Given the description of an element on the screen output the (x, y) to click on. 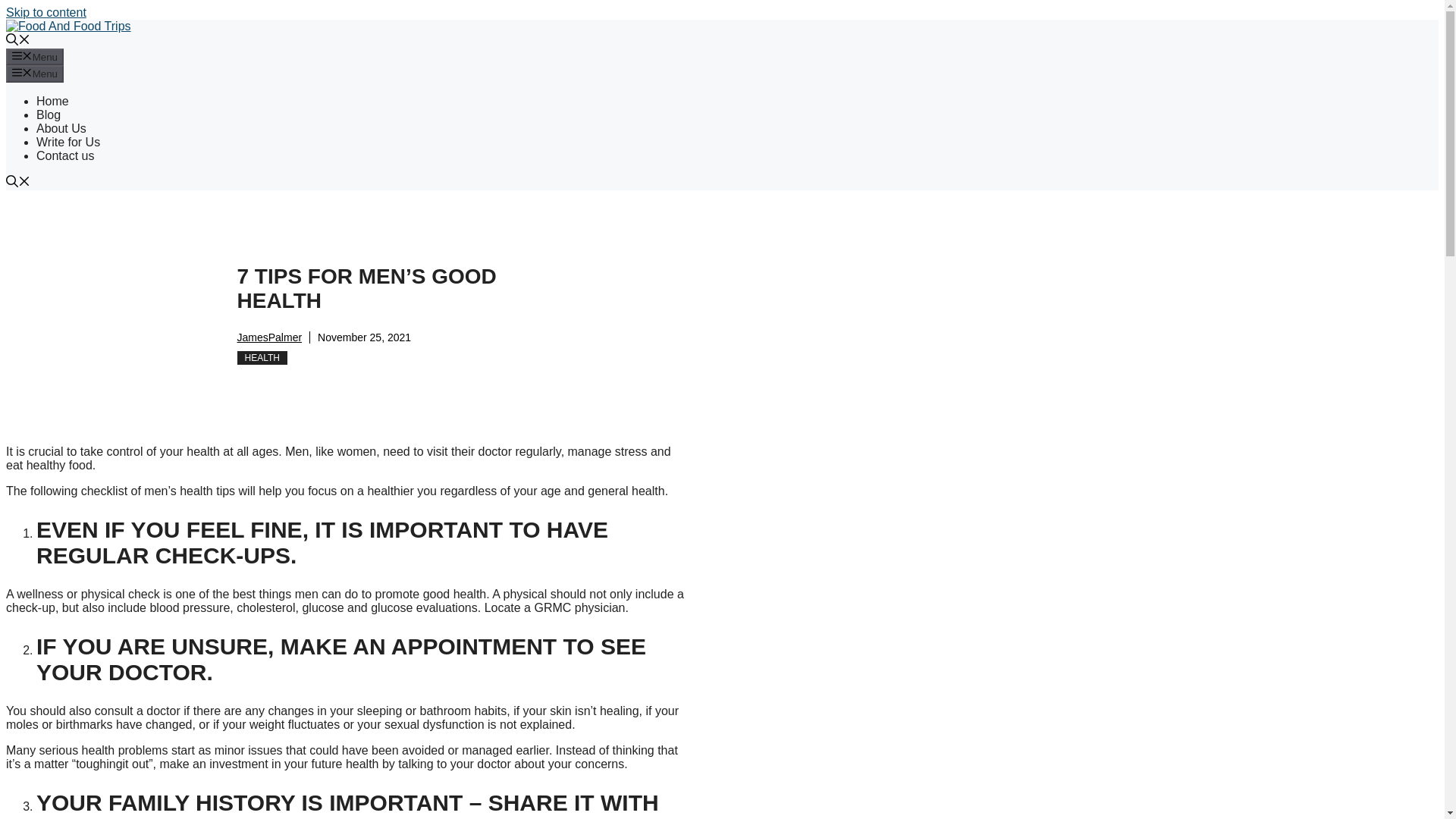
Contact us (65, 155)
Menu (34, 73)
About Us (60, 128)
HEALTH (260, 357)
Menu (34, 56)
Write for Us (68, 141)
Skip to content (45, 11)
Home (52, 101)
Skip to content (45, 11)
Blog (48, 114)
